Given the description of an element on the screen output the (x, y) to click on. 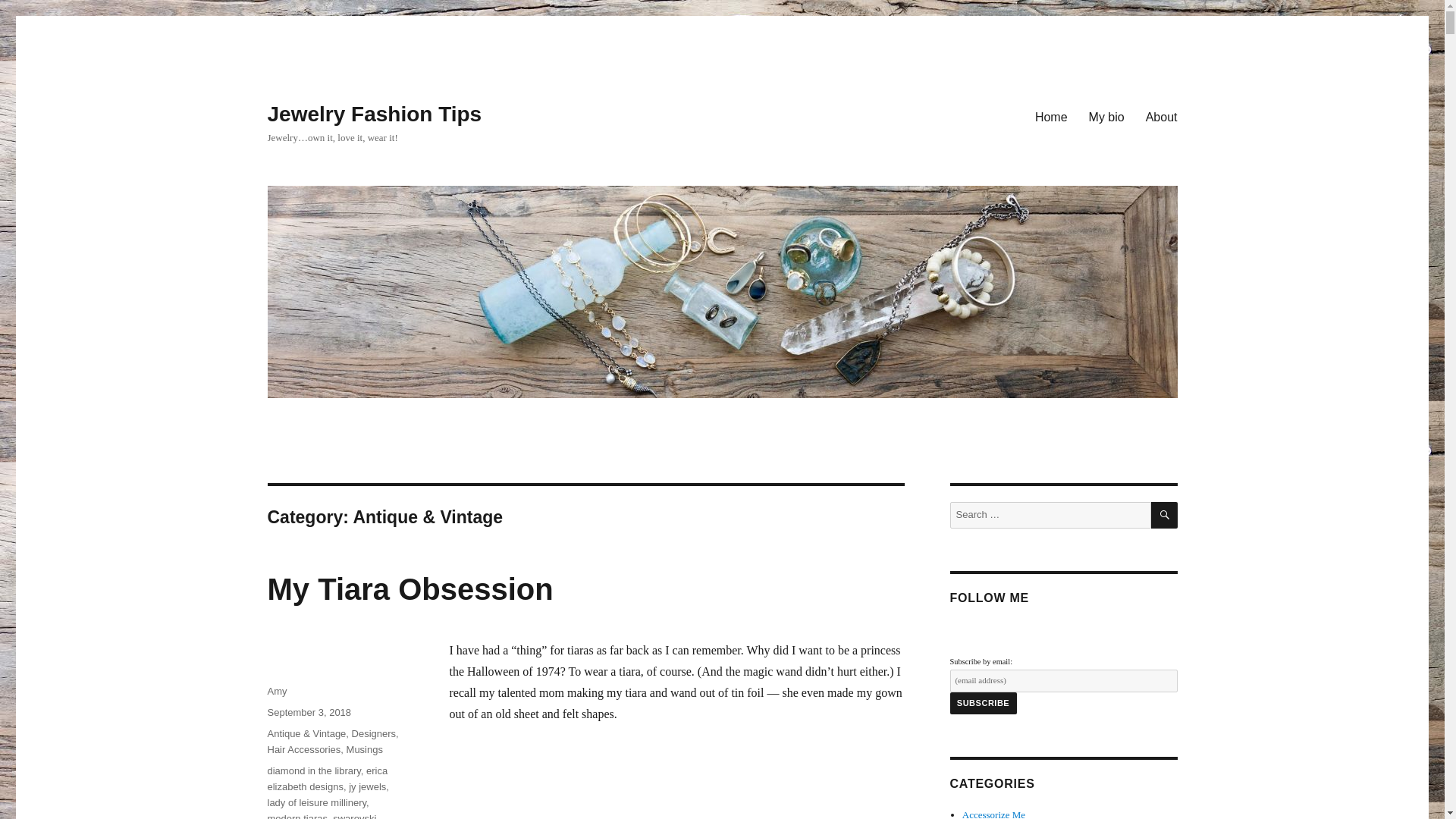
Subscribe (982, 703)
Amy (276, 690)
lady of leisure millinery (316, 802)
Home (1051, 116)
Designers (374, 733)
My Tiara Obsession (409, 589)
diamond in the library (312, 770)
Hair Accessories (303, 749)
Musings (364, 749)
erica elizabeth designs (326, 778)
modern tiaras (296, 816)
jy jewels (367, 786)
My bio (1106, 116)
September 3, 2018 (308, 712)
swarovski tiaras (320, 816)
